Given the description of an element on the screen output the (x, y) to click on. 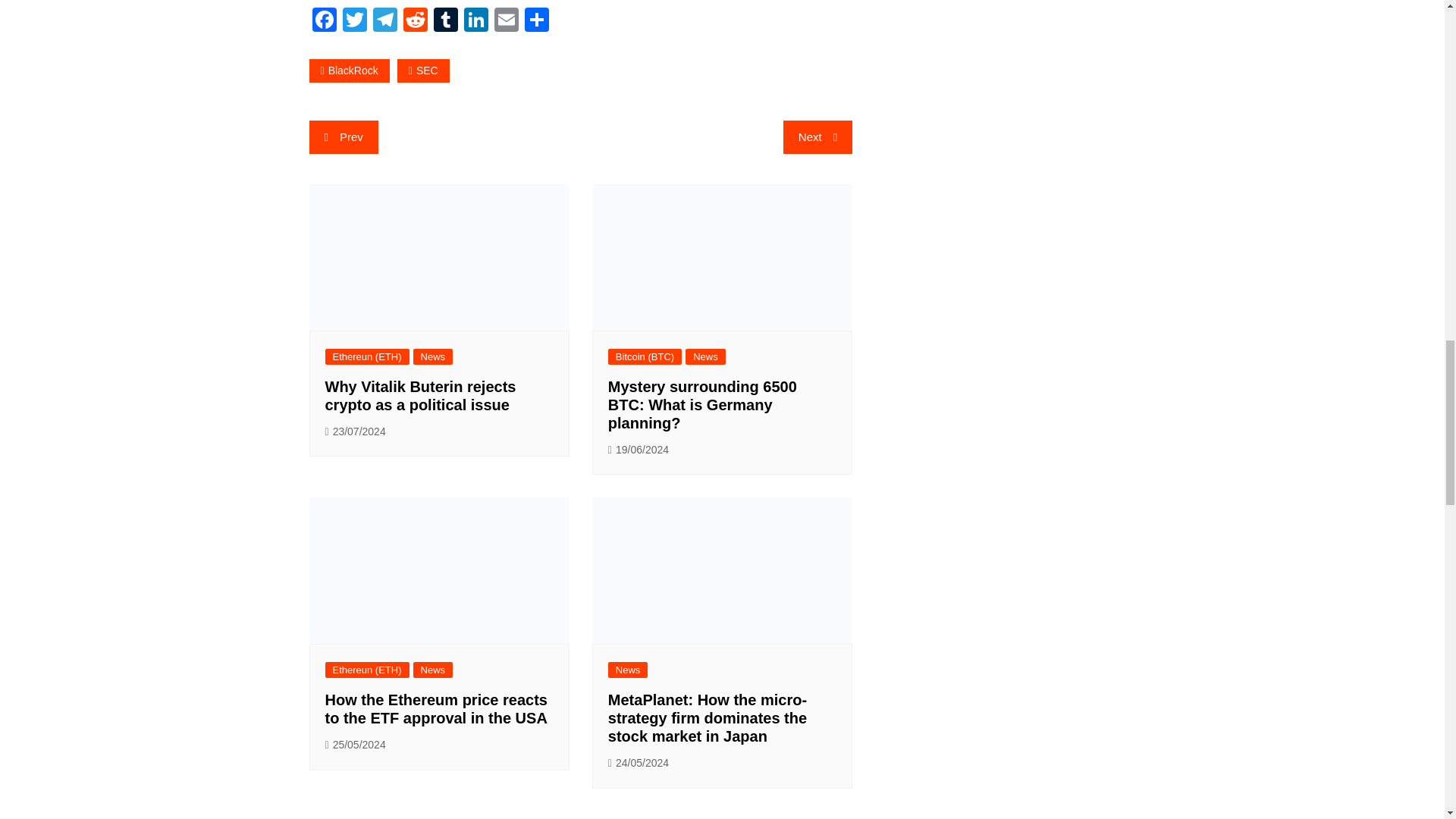
Tumblr (445, 21)
Telegram (384, 21)
Tumblr (445, 21)
Email (506, 21)
LinkedIn (476, 21)
Facebook (323, 21)
BlackRock (349, 70)
Facebook (323, 21)
Twitter (354, 21)
Reddit (415, 21)
